Given the description of an element on the screen output the (x, y) to click on. 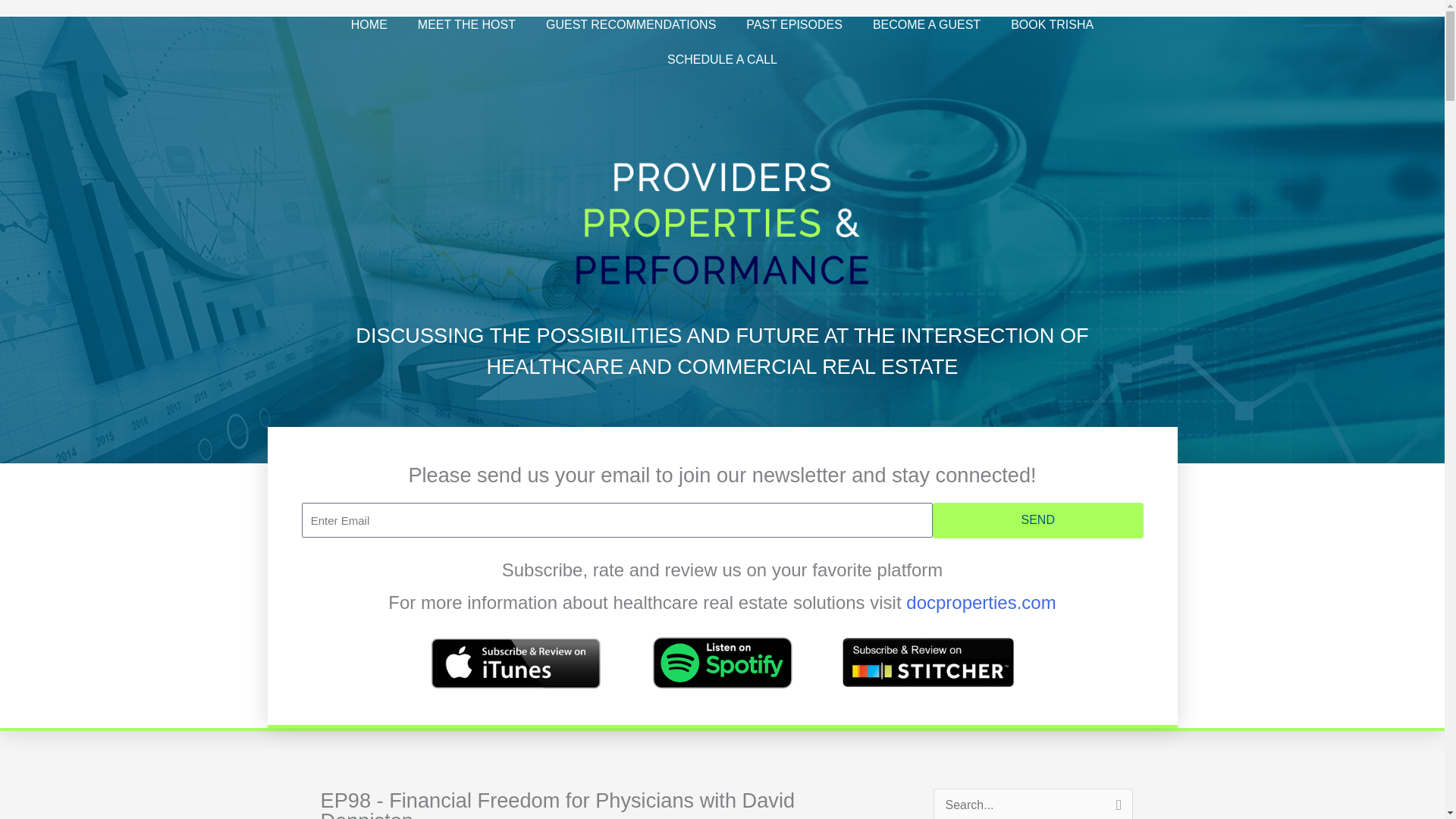
SEND (1037, 520)
BOOK TRISHA (1051, 24)
BECOME A GUEST (926, 24)
docproperties.com (980, 602)
MEET THE HOST (467, 24)
SCHEDULE A CALL (722, 59)
Search (1115, 803)
PAST EPISODES (793, 24)
HOME (369, 24)
Search (1115, 803)
GUEST RECOMMENDATIONS (630, 24)
Search (1115, 803)
